Given the description of an element on the screen output the (x, y) to click on. 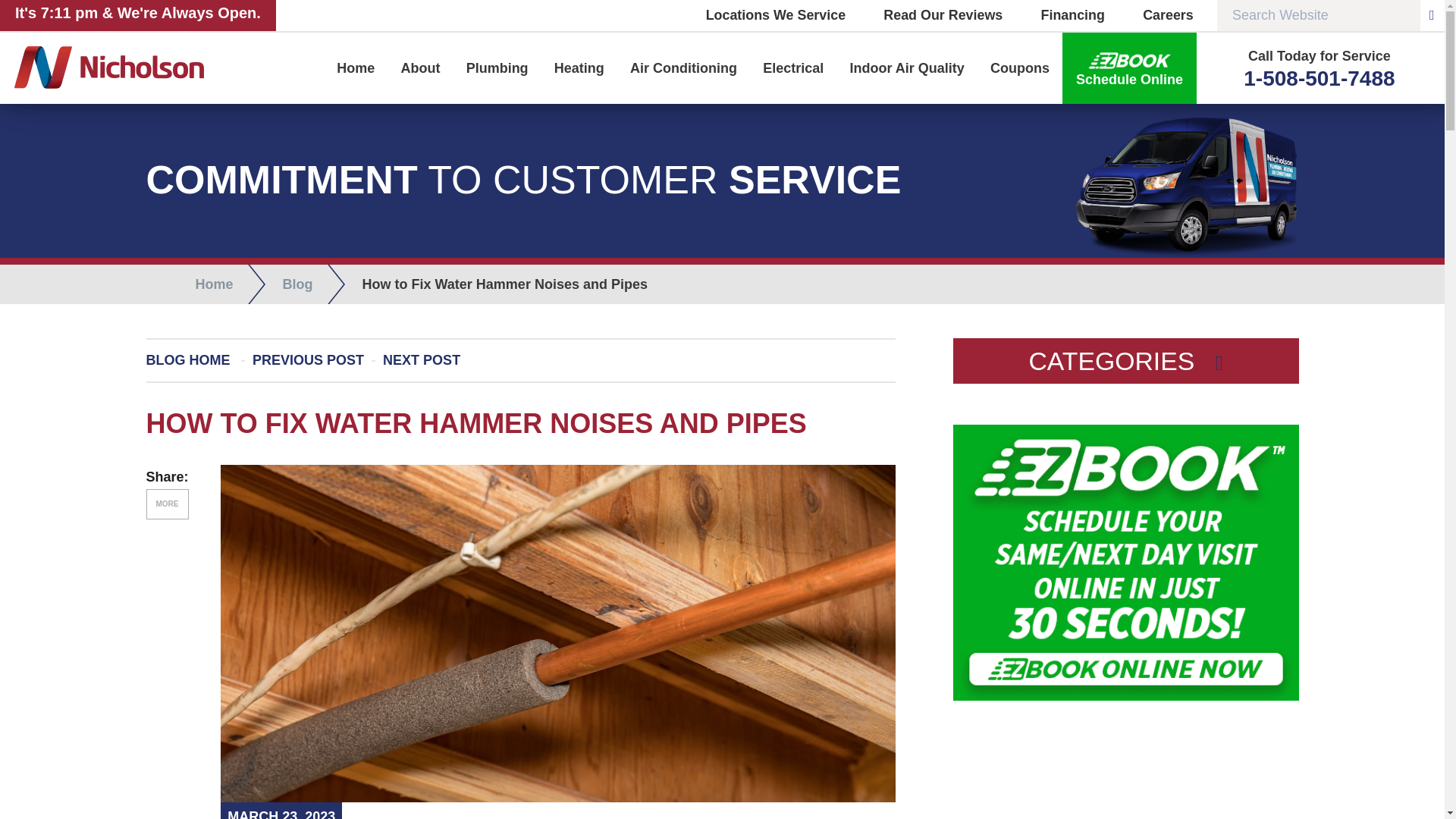
Careers (1158, 15)
Nicholson (123, 66)
Home (355, 68)
Financing (1064, 15)
About (419, 68)
Read Our Reviews (934, 15)
Heating (579, 68)
Locations We Service (775, 15)
Plumbing (496, 68)
